Given the description of an element on the screen output the (x, y) to click on. 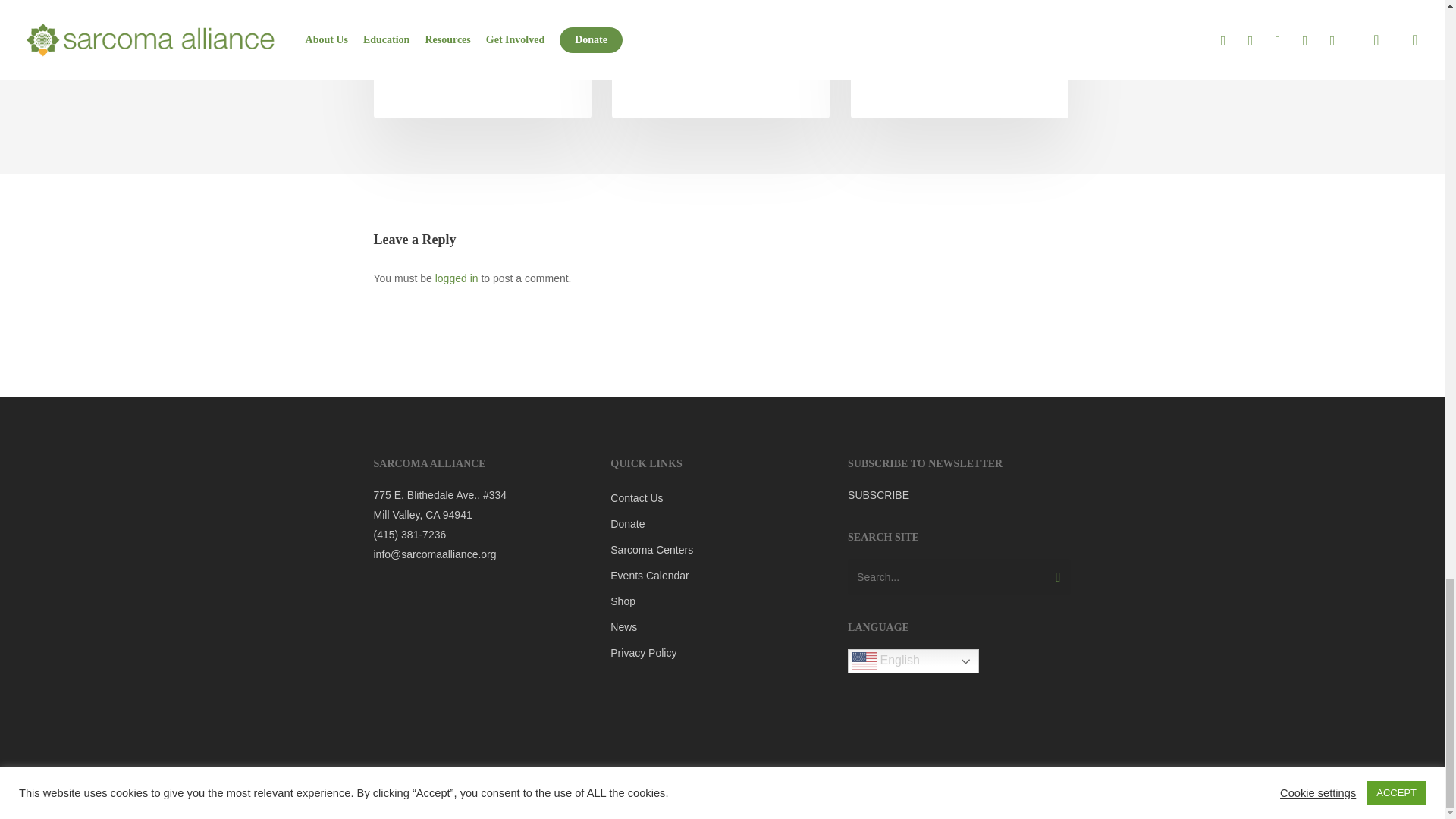
Search for: (958, 576)
